Given the description of an element on the screen output the (x, y) to click on. 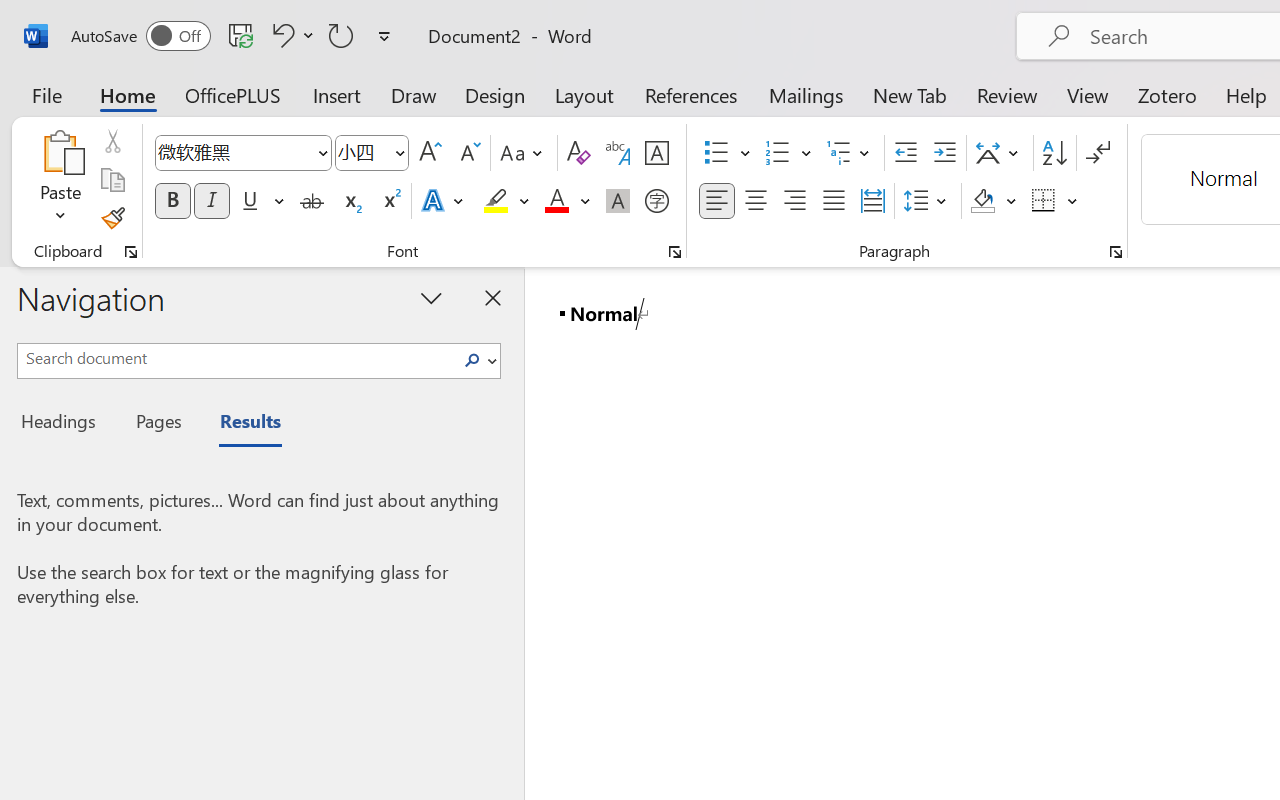
Font (242, 153)
Font... (675, 252)
Shrink Font (468, 153)
Underline (250, 201)
Customize Quick Access Toolbar (384, 35)
Save (241, 35)
Text Highlight Color (506, 201)
Numbering (788, 153)
Bold (172, 201)
